Given the description of an element on the screen output the (x, y) to click on. 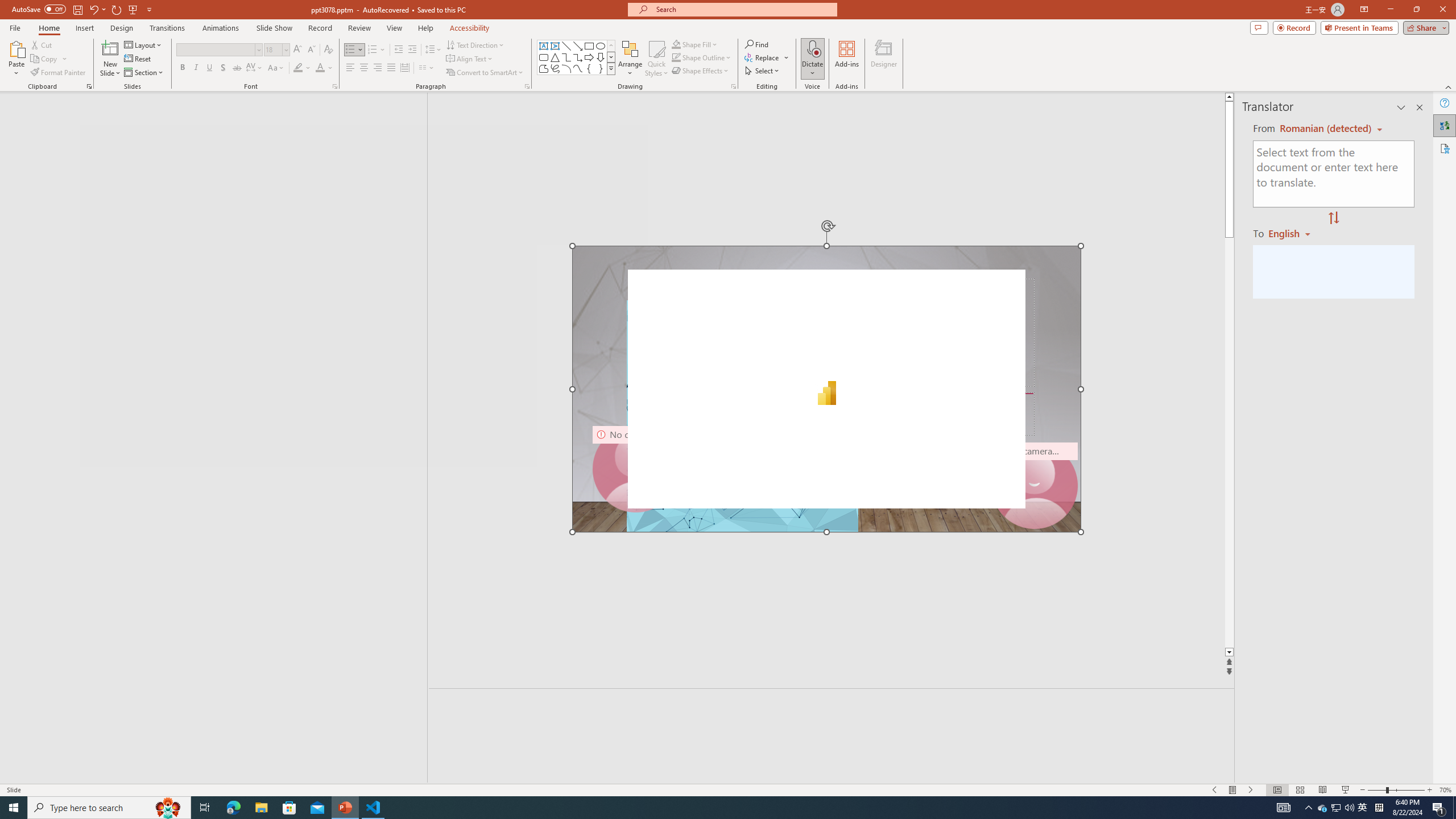
Slide Show Next On (1250, 790)
TextBox 61 (825, 390)
Camera 9, No camera detected. (635, 468)
